Given the description of an element on the screen output the (x, y) to click on. 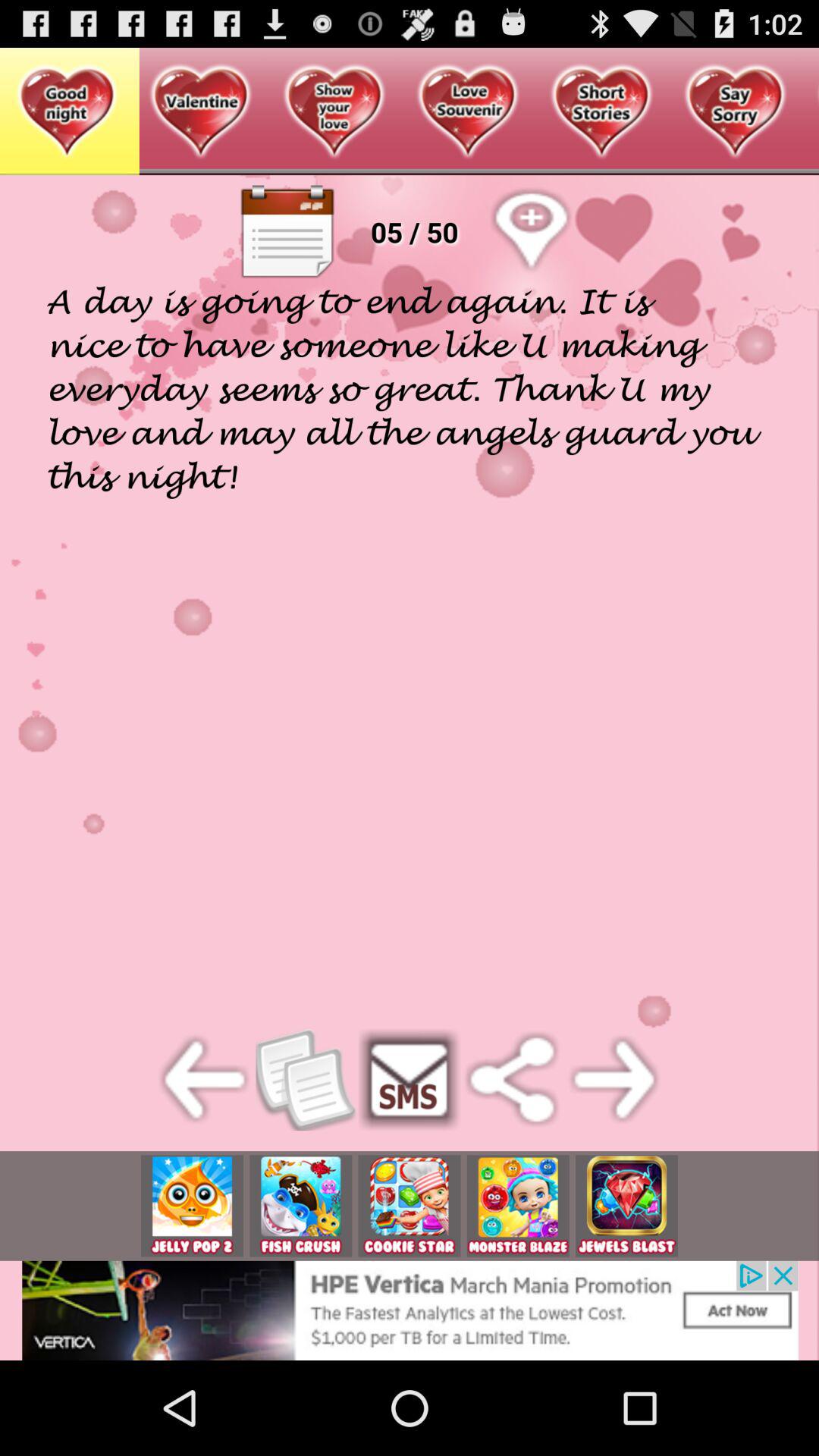
advertisement (300, 1205)
